Given the description of an element on the screen output the (x, y) to click on. 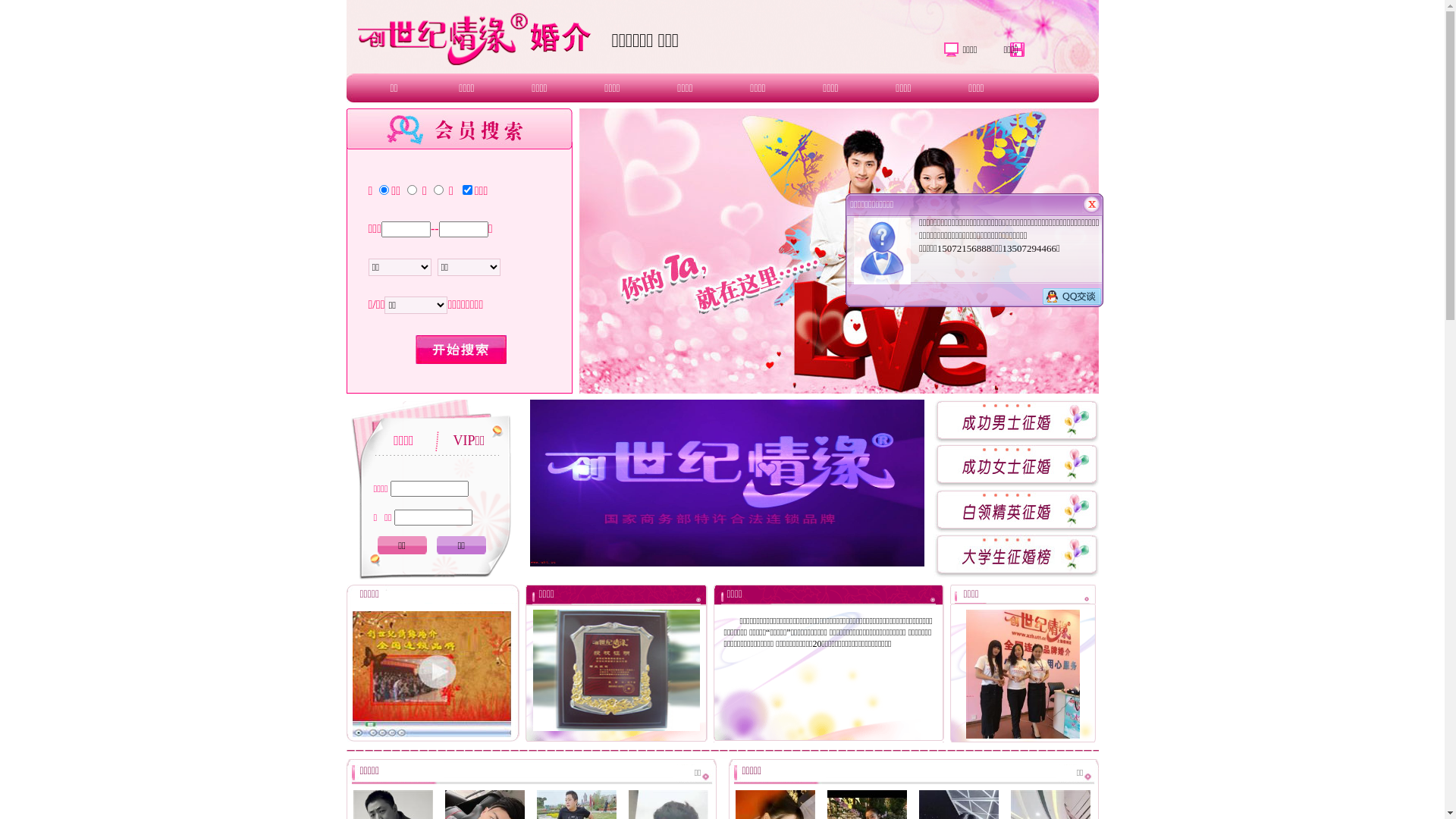
on Element type: text (467, 189)
  Element type: text (460, 349)
